Given the description of an element on the screen output the (x, y) to click on. 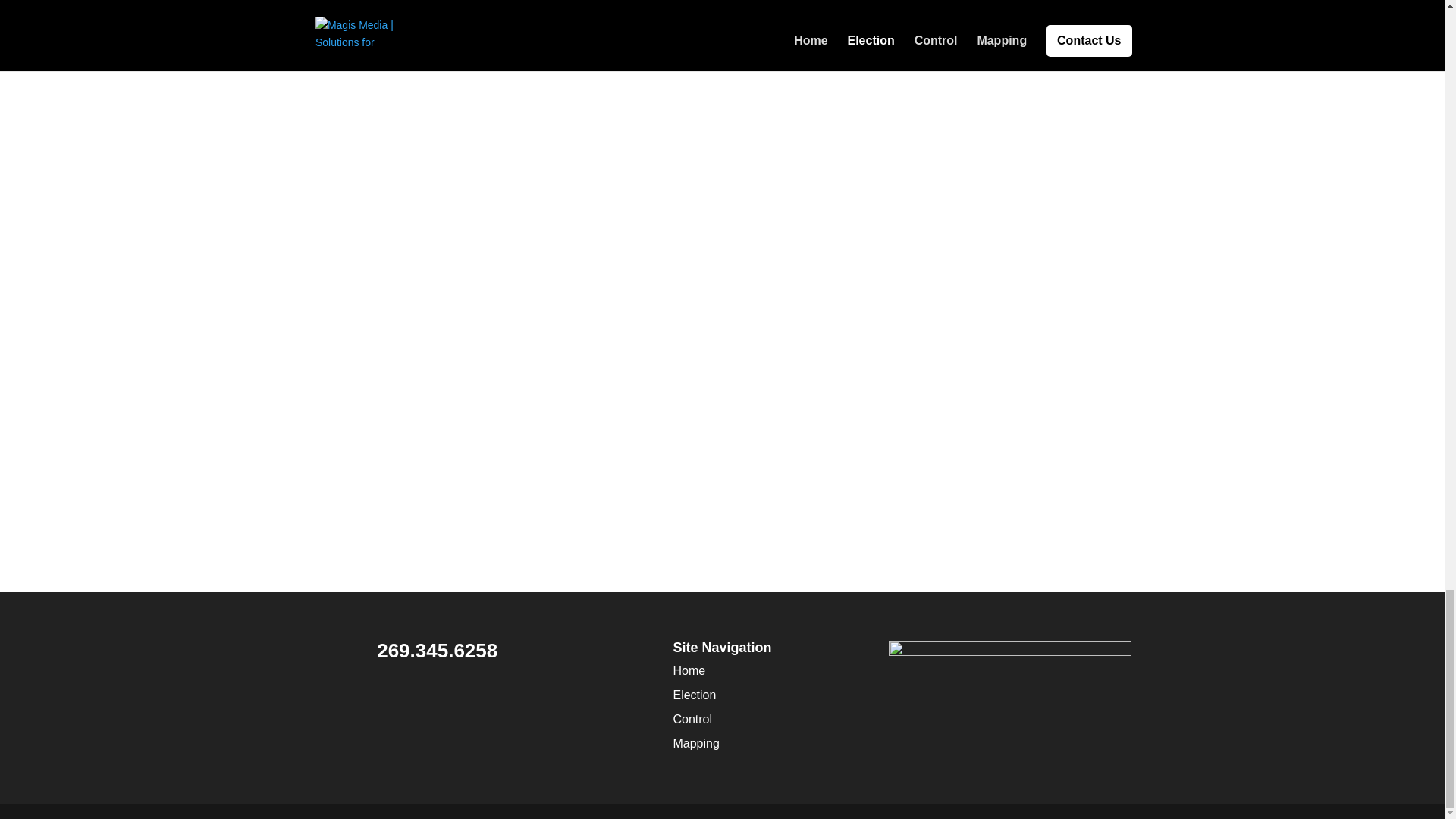
Election (694, 694)
Mapping (695, 743)
Control (691, 718)
Home (688, 670)
